Given the description of an element on the screen output the (x, y) to click on. 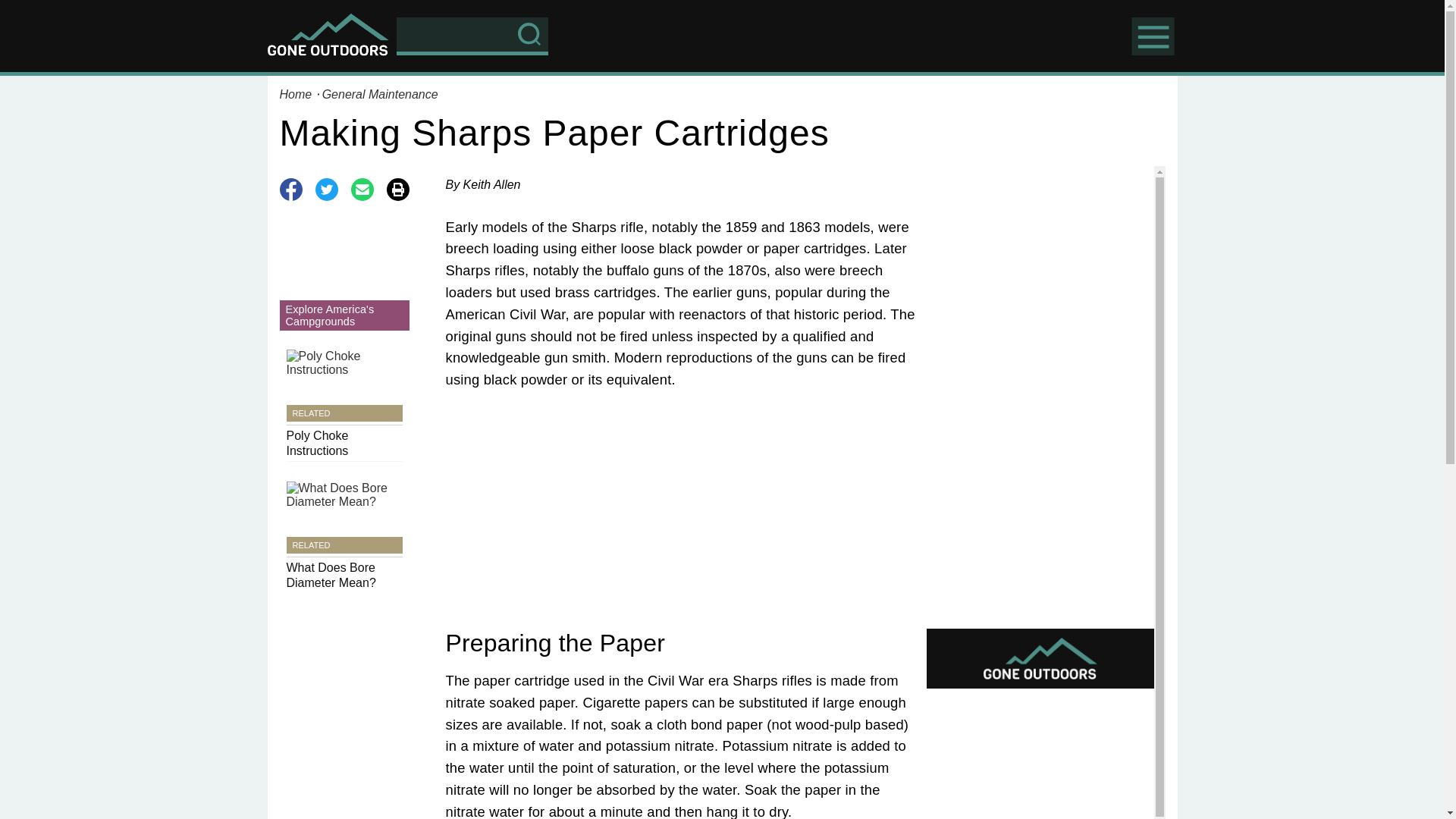
Explore America's Campgrounds (344, 273)
Home (345, 405)
General Maintenance (296, 93)
Menu (379, 93)
